Given the description of an element on the screen output the (x, y) to click on. 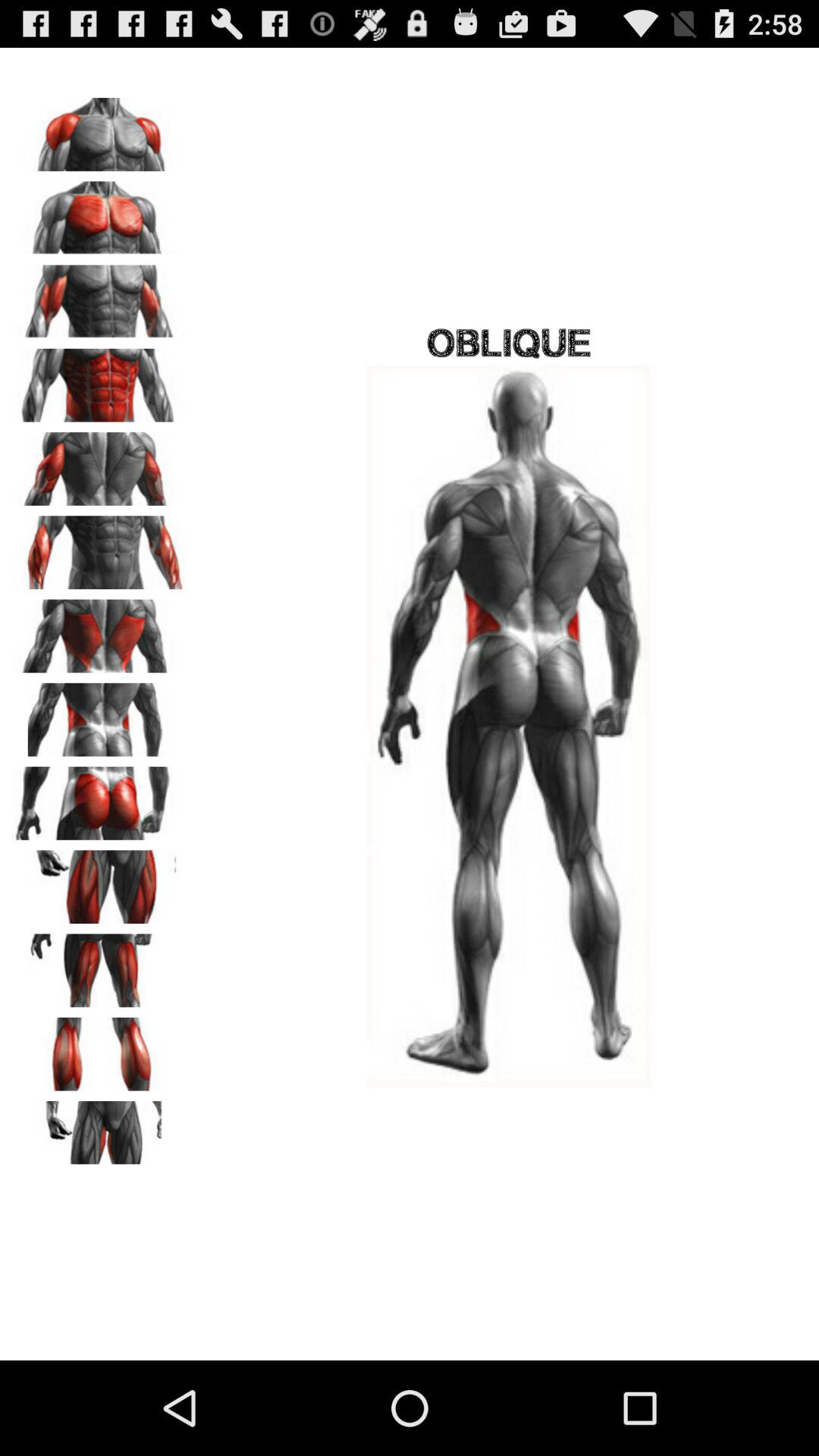
part selection (99, 630)
